Given the description of an element on the screen output the (x, y) to click on. 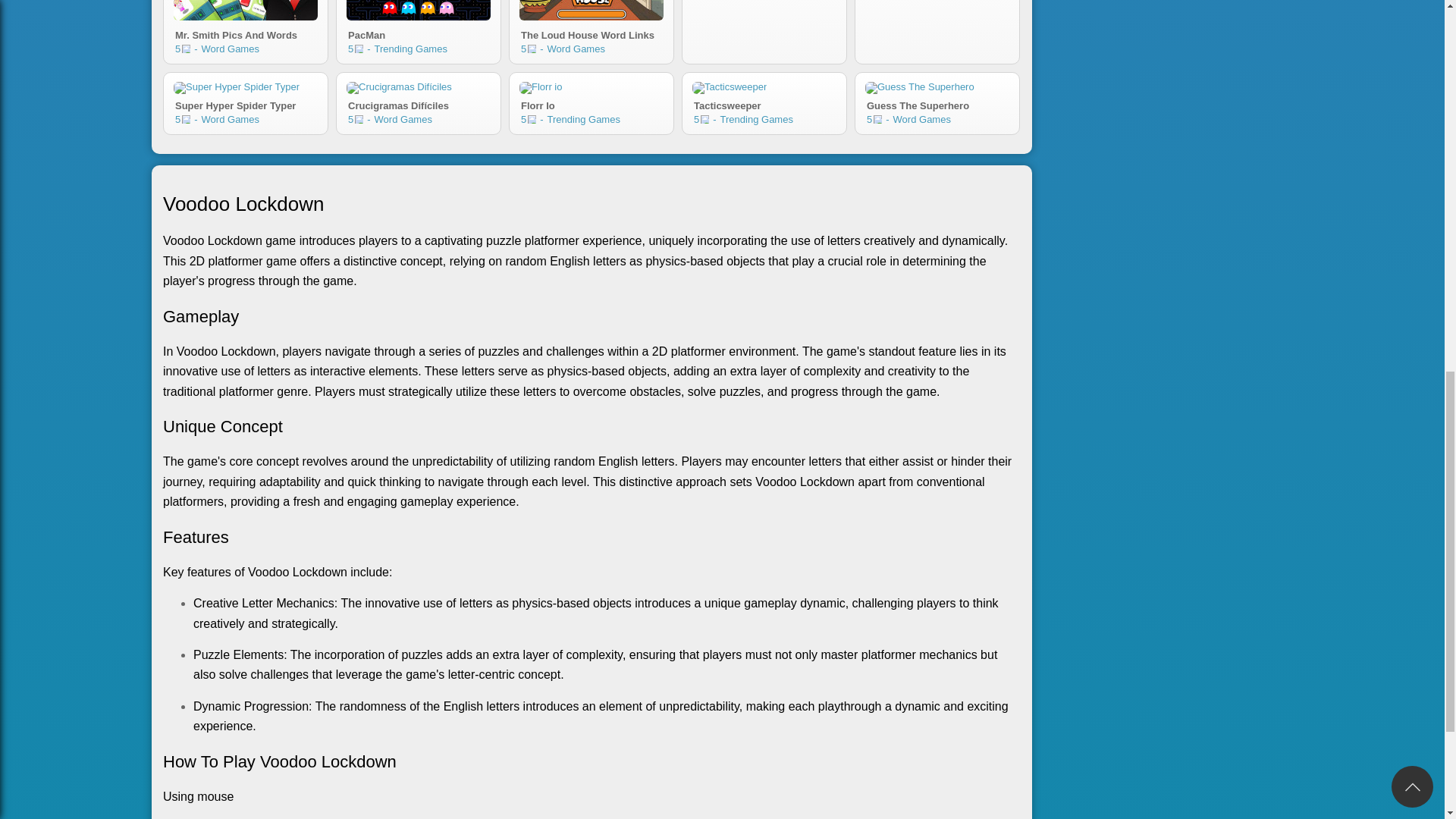
numrate (936, 103)
numrate (186, 119)
The Loud House Word Links (358, 49)
numrate (591, 10)
Mr. Smith Pics and Words (591, 103)
numrate (704, 119)
PacMan (245, 33)
numrate (245, 10)
numrate (245, 103)
Florr io (186, 49)
numrate (418, 10)
